Given the description of an element on the screen output the (x, y) to click on. 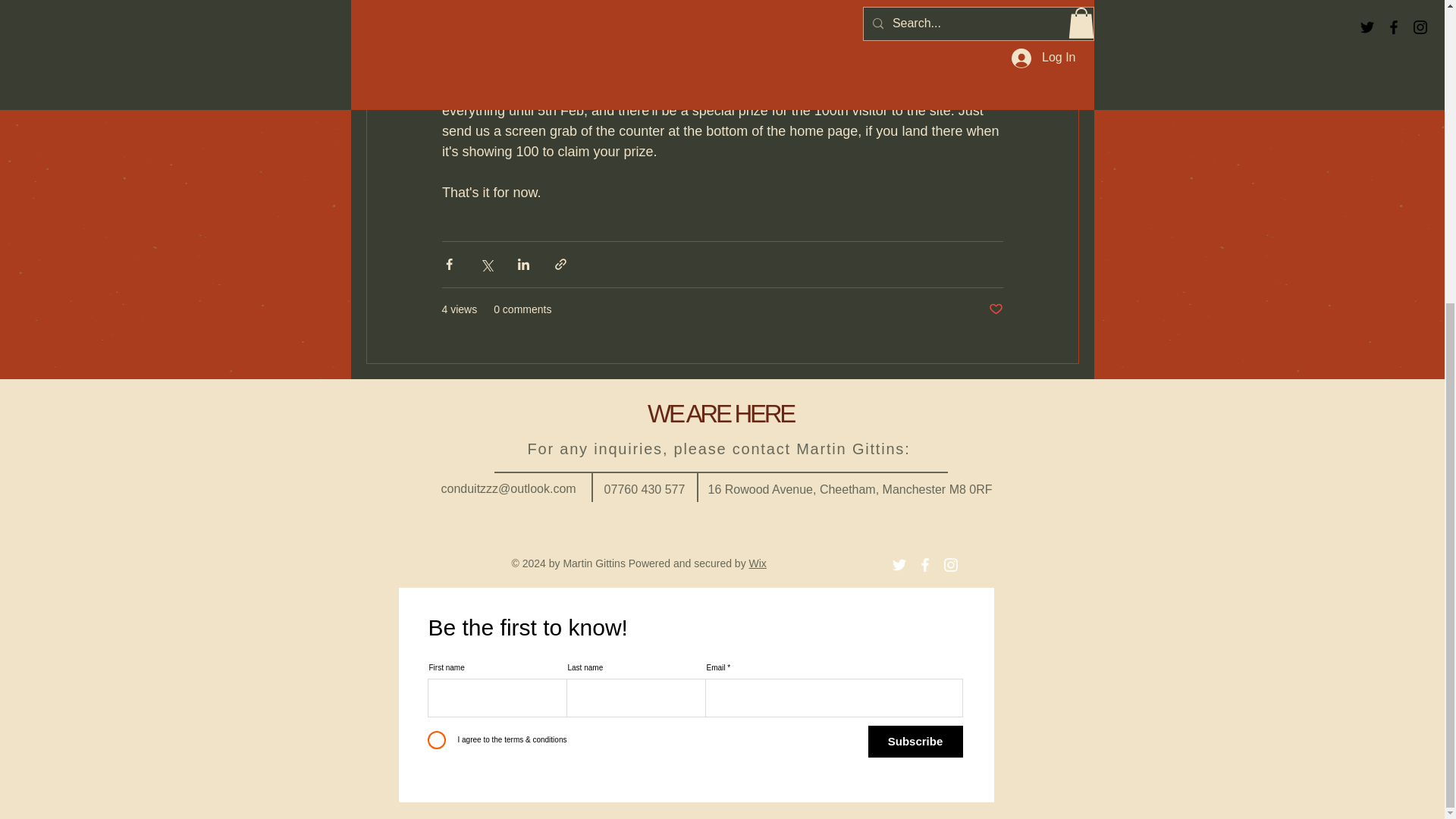
Subscribe (914, 741)
Post not marked as liked (995, 309)
Wix (758, 563)
